Given the description of an element on the screen output the (x, y) to click on. 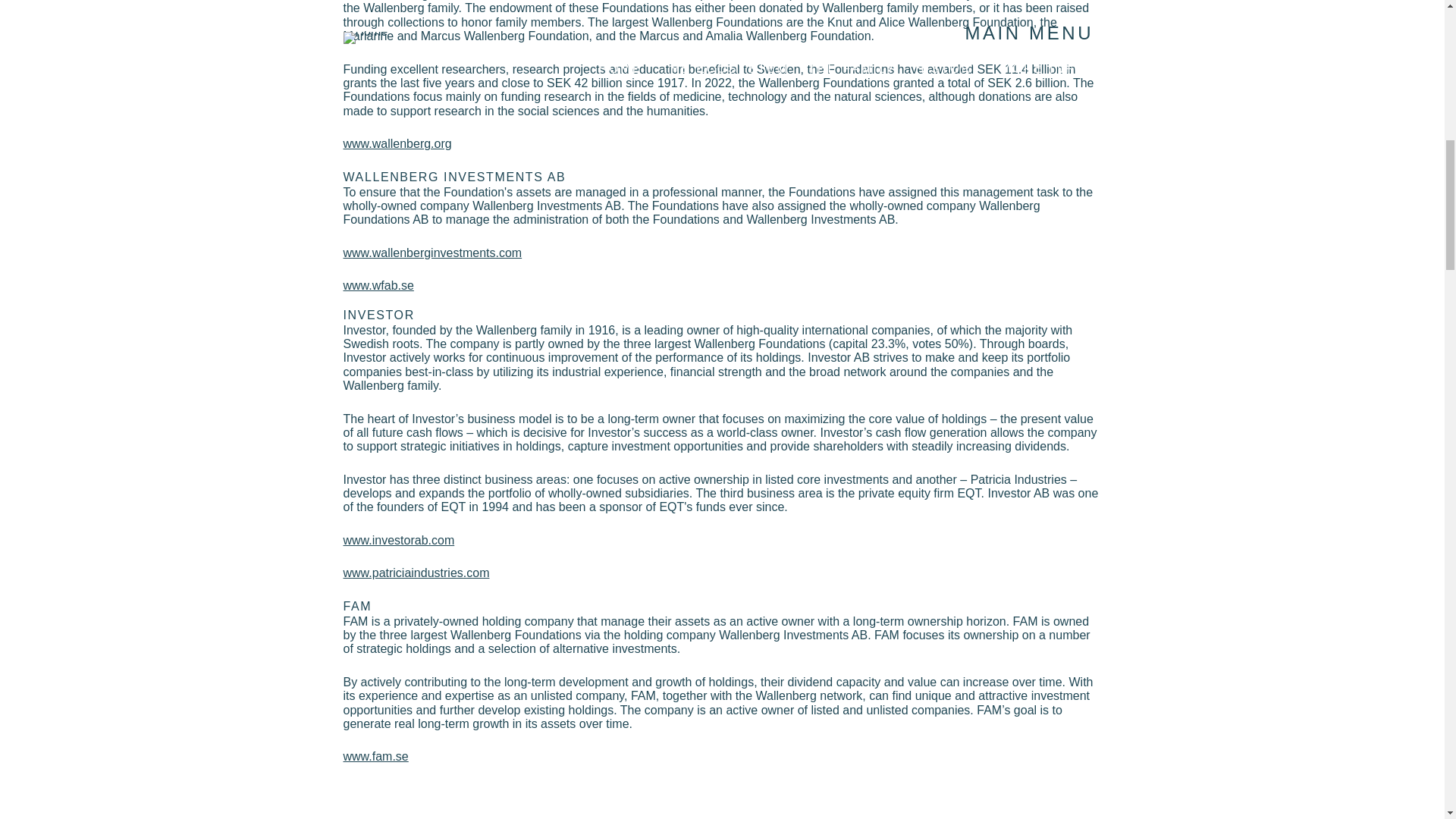
www.wallenberginvestments.com (431, 252)
www.patriciaindustries.com (415, 572)
www.wallenberg.org (396, 143)
www.wfab.se (377, 285)
www.fam.se (374, 756)
www.investorab.com (398, 540)
